Given the description of an element on the screen output the (x, y) to click on. 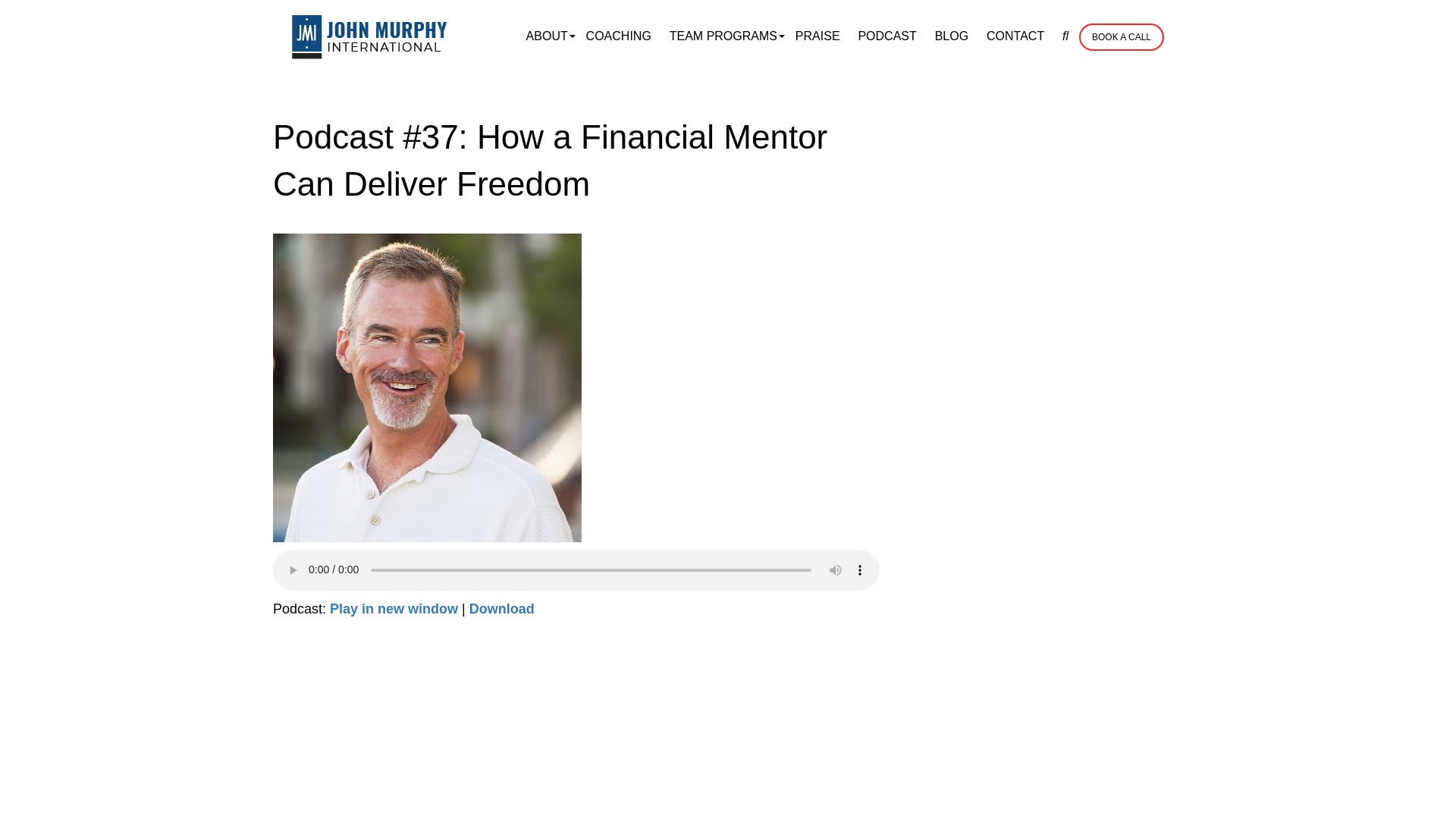
BLOG (951, 35)
PODCAST (886, 35)
Business Executive Coaching (370, 36)
ABOUT (546, 35)
BOOK A CALL (1120, 36)
Download (501, 608)
Play in new window (394, 608)
TEAM PROGRAMS (723, 35)
COACHING (618, 35)
CONTACT (1014, 35)
